Given the description of an element on the screen output the (x, y) to click on. 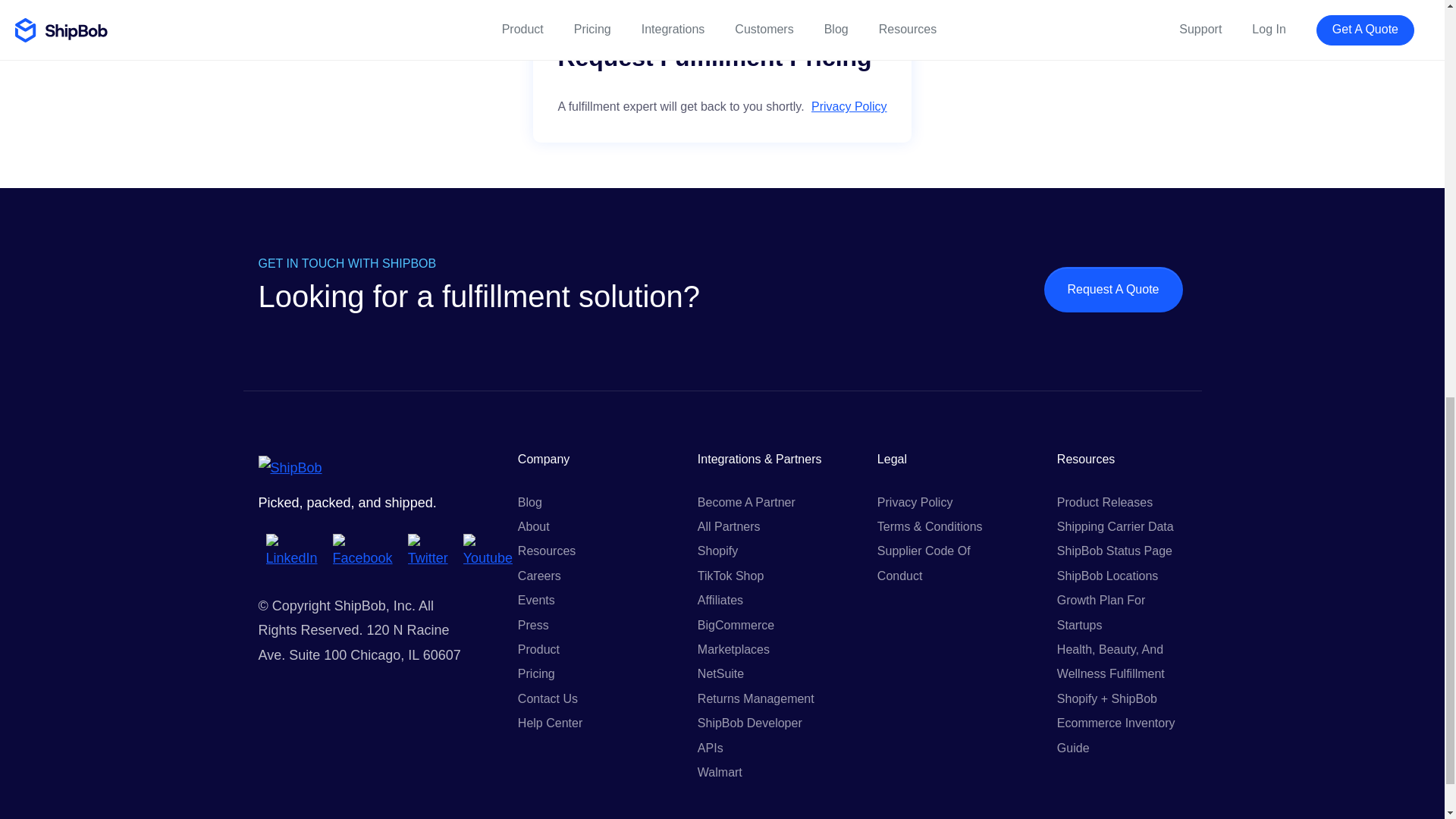
Privacy Policy (848, 106)
Product (538, 649)
Press (533, 625)
About (534, 526)
Careers (539, 575)
Events (536, 599)
Resources (546, 550)
Pricing (536, 673)
Blog (529, 502)
Request A Quote (1112, 289)
